Given the description of an element on the screen output the (x, y) to click on. 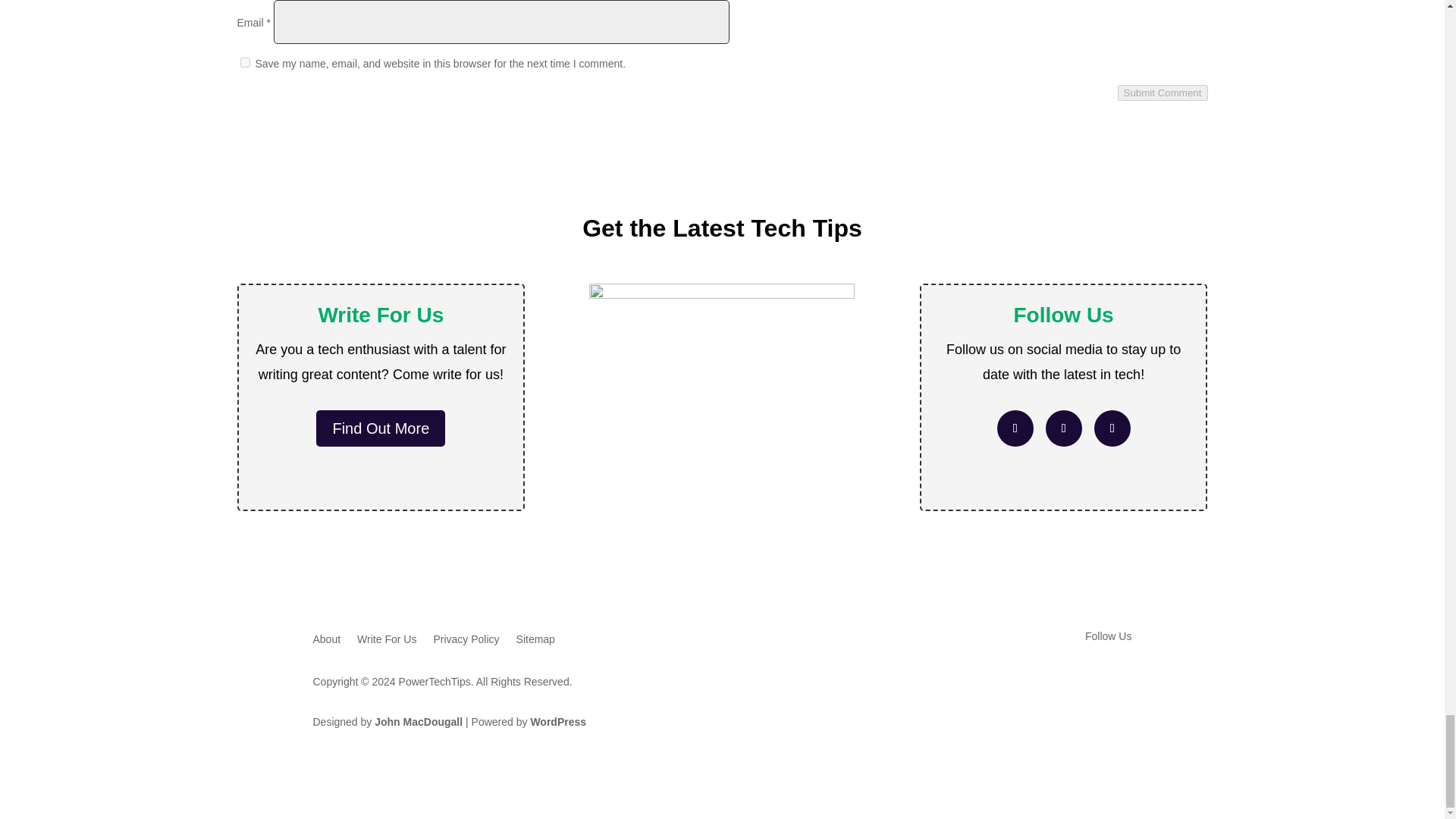
About (326, 641)
Follow on Facebook (1058, 680)
Write For Us (386, 641)
yes (244, 62)
Follow on Youtube (1112, 428)
Find Out More (380, 428)
Follow on X (1063, 428)
Sitemap (535, 641)
Follow on Facebook (1015, 428)
Follow on X (1088, 680)
